Given the description of an element on the screen output the (x, y) to click on. 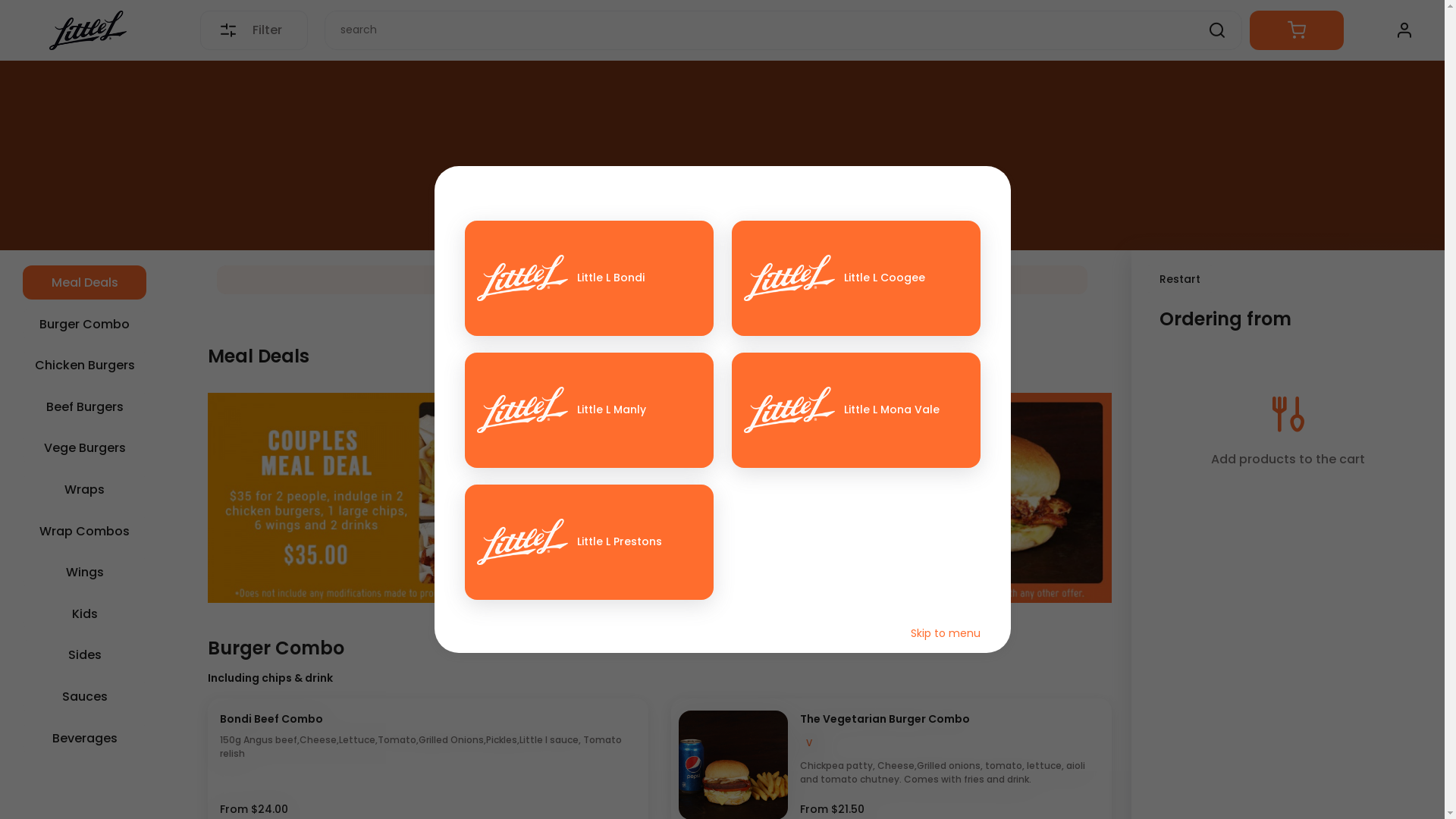
Burger Combo Element type: text (84, 324)
Meal Deals Element type: text (84, 282)
Little L Mona Vale Element type: text (855, 409)
Wraps Element type: text (84, 489)
Little L Coogee Element type: text (855, 277)
Chicken Burgers Element type: text (84, 365)
Little L Prestons Element type: text (588, 541)
Select Location Element type: text (651, 279)
Vege Burgers Element type: text (84, 447)
Beef Burgers Element type: text (84, 406)
Restart Element type: text (1179, 278)
Little L Bondi Element type: text (588, 277)
Wings Element type: text (84, 572)
Little L Manly Element type: text (588, 409)
Wrap Combos Element type: text (84, 531)
Beverages Element type: text (84, 738)
Kids Element type: text (84, 613)
Sides Element type: text (84, 654)
Sauces Element type: text (84, 696)
